Given the description of an element on the screen output the (x, y) to click on. 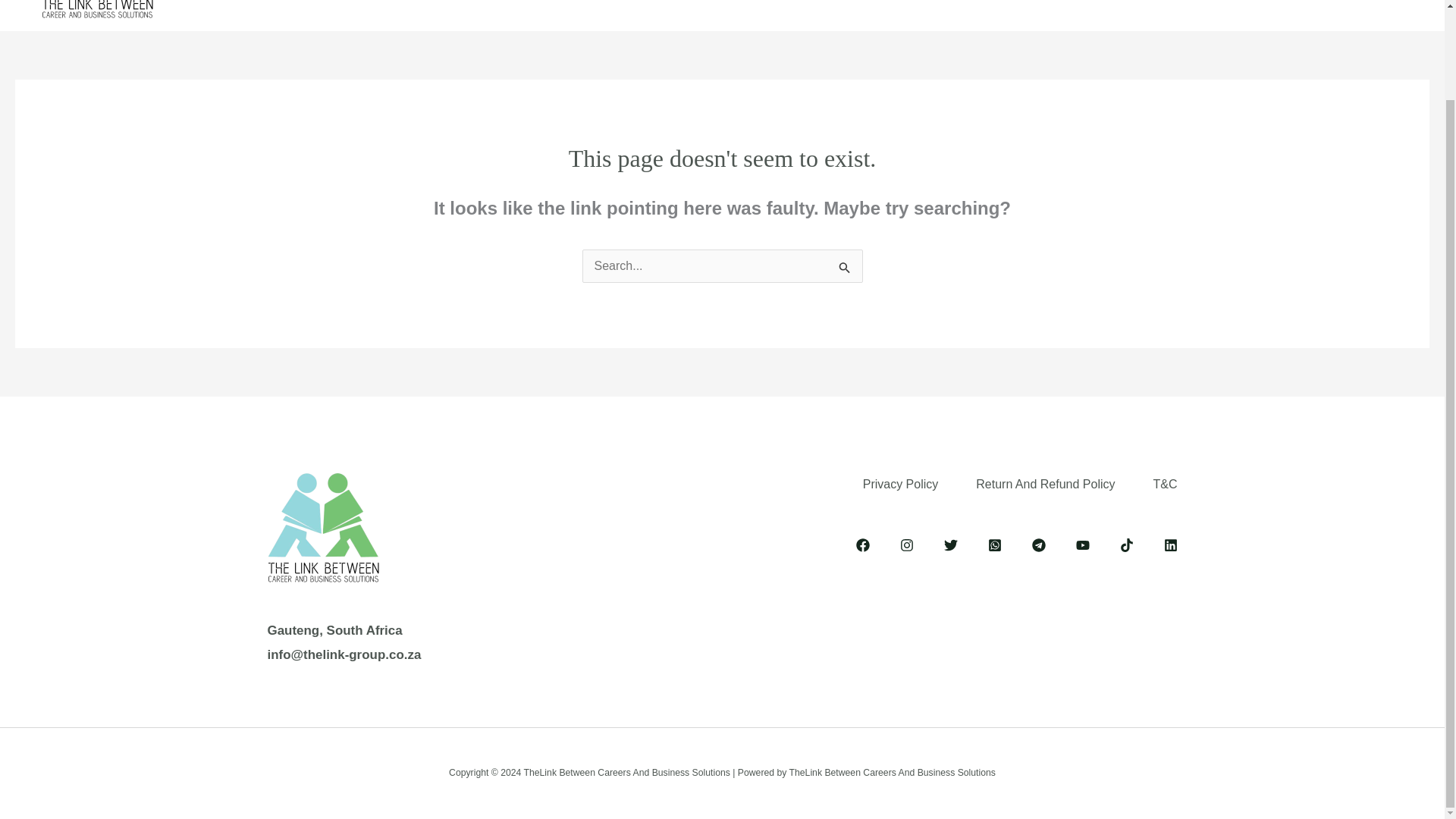
HOME (439, 4)
SERVICES (601, 4)
ABOUT (511, 4)
SHOP (917, 4)
Search (844, 270)
Search (844, 270)
CONTACT (996, 4)
Search (844, 270)
PORTFOLIO (833, 4)
